Given the description of an element on the screen output the (x, y) to click on. 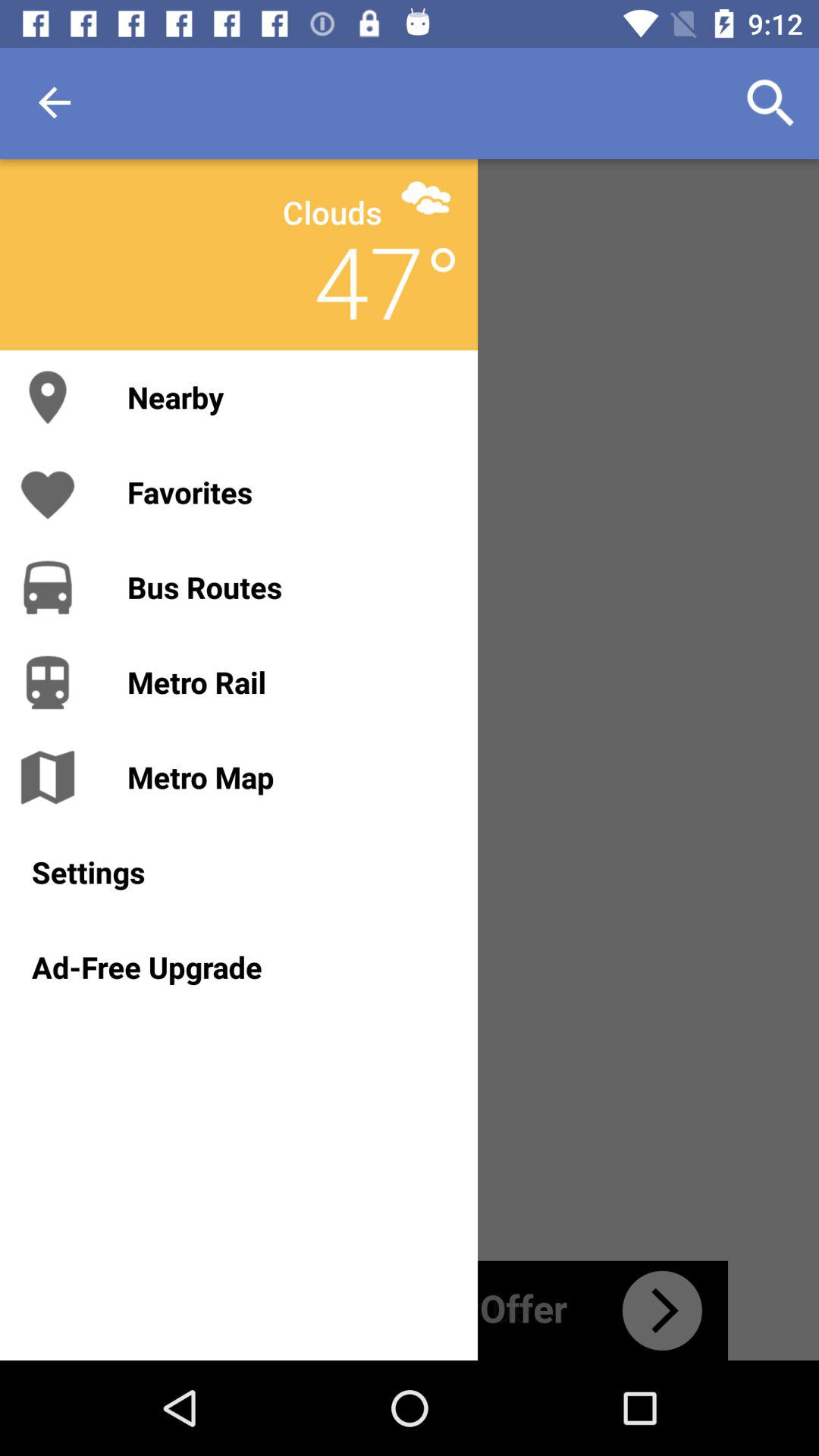
press the metro map item (286, 777)
